Given the description of an element on the screen output the (x, y) to click on. 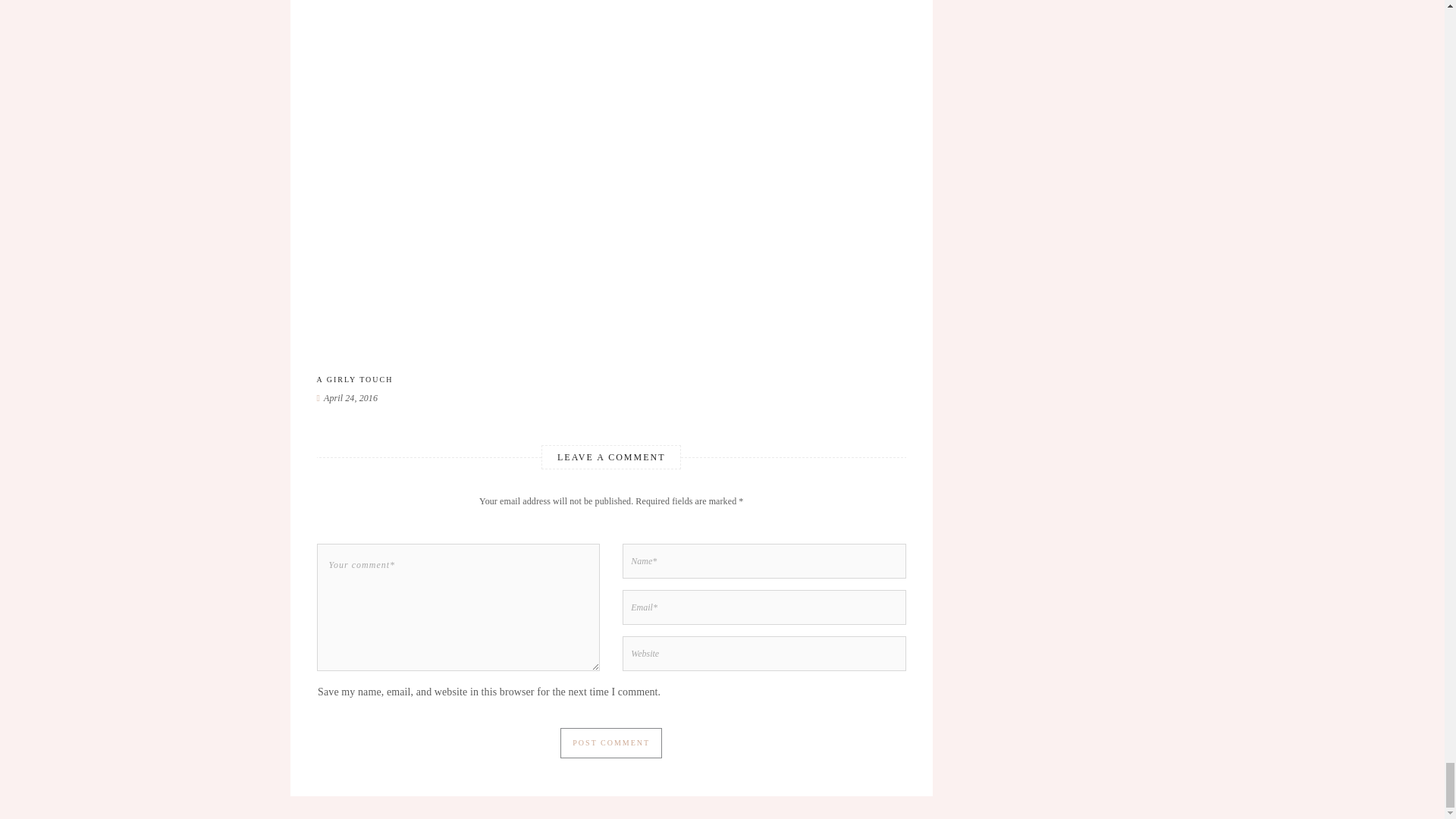
Post Comment (611, 743)
